Given the description of an element on the screen output the (x, y) to click on. 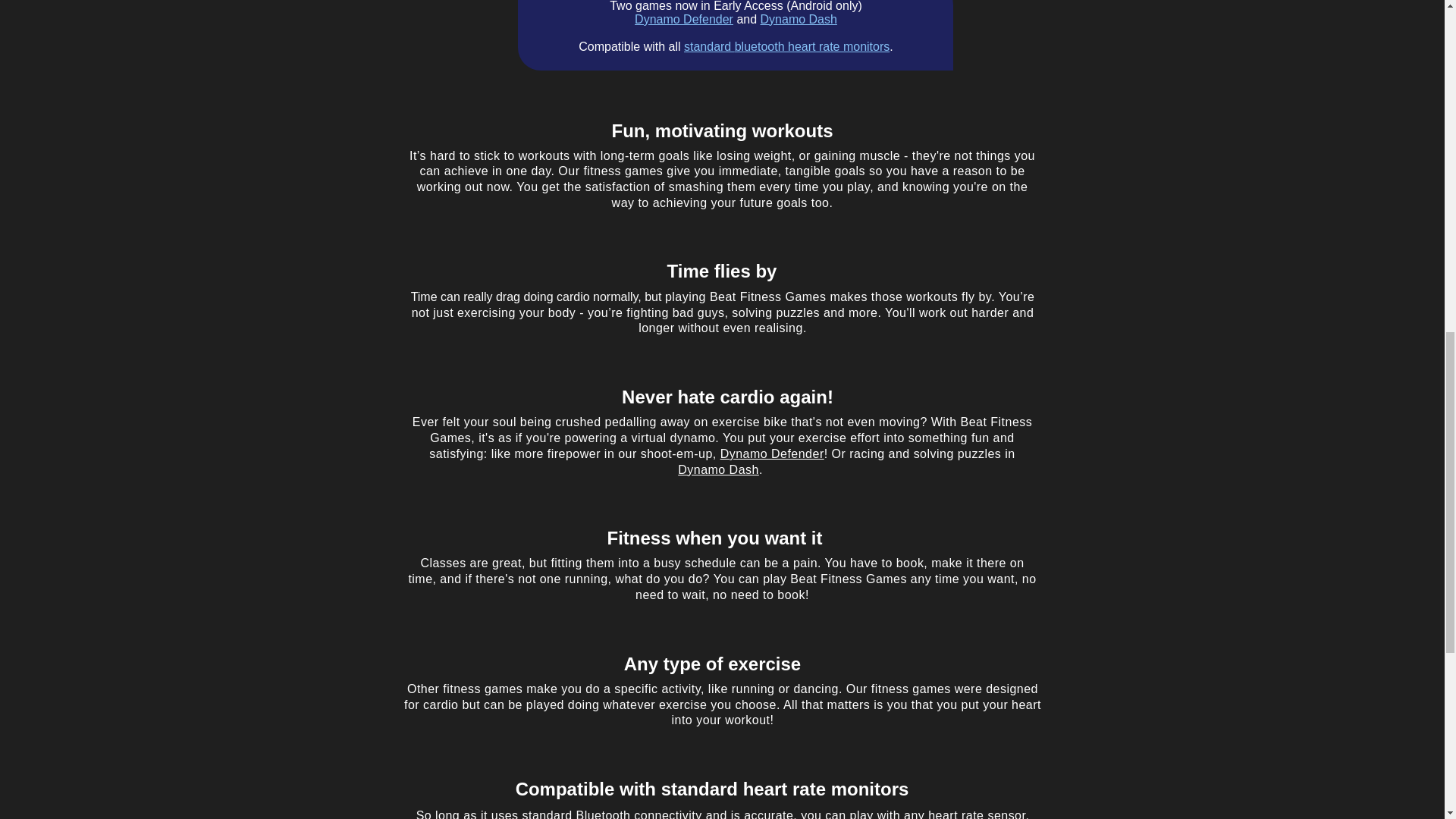
Dynamo Defender (683, 19)
Dynamo Dash (798, 19)
Dynamo Defender (772, 453)
Dynamo Dash (718, 469)
bluetooth heart rate monitors (812, 46)
